Given the description of an element on the screen output the (x, y) to click on. 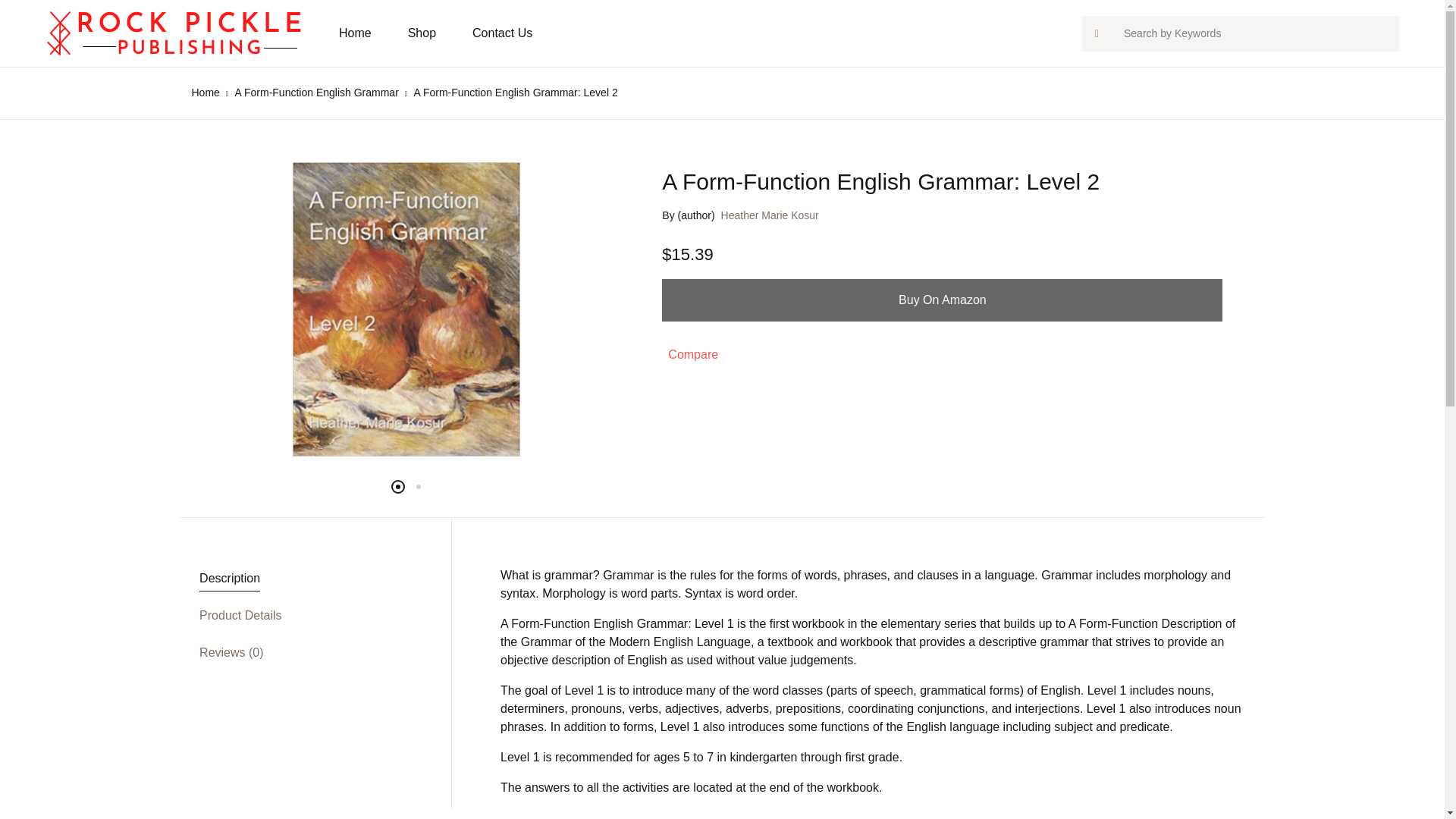
Contact Us (501, 33)
Description (229, 578)
A Form-Function English Grammar (316, 92)
Home (204, 92)
Product Details (240, 615)
Buy On Amazon (942, 300)
Contact Us (501, 33)
Heather Marie Kosur (769, 215)
